Given the description of an element on the screen output the (x, y) to click on. 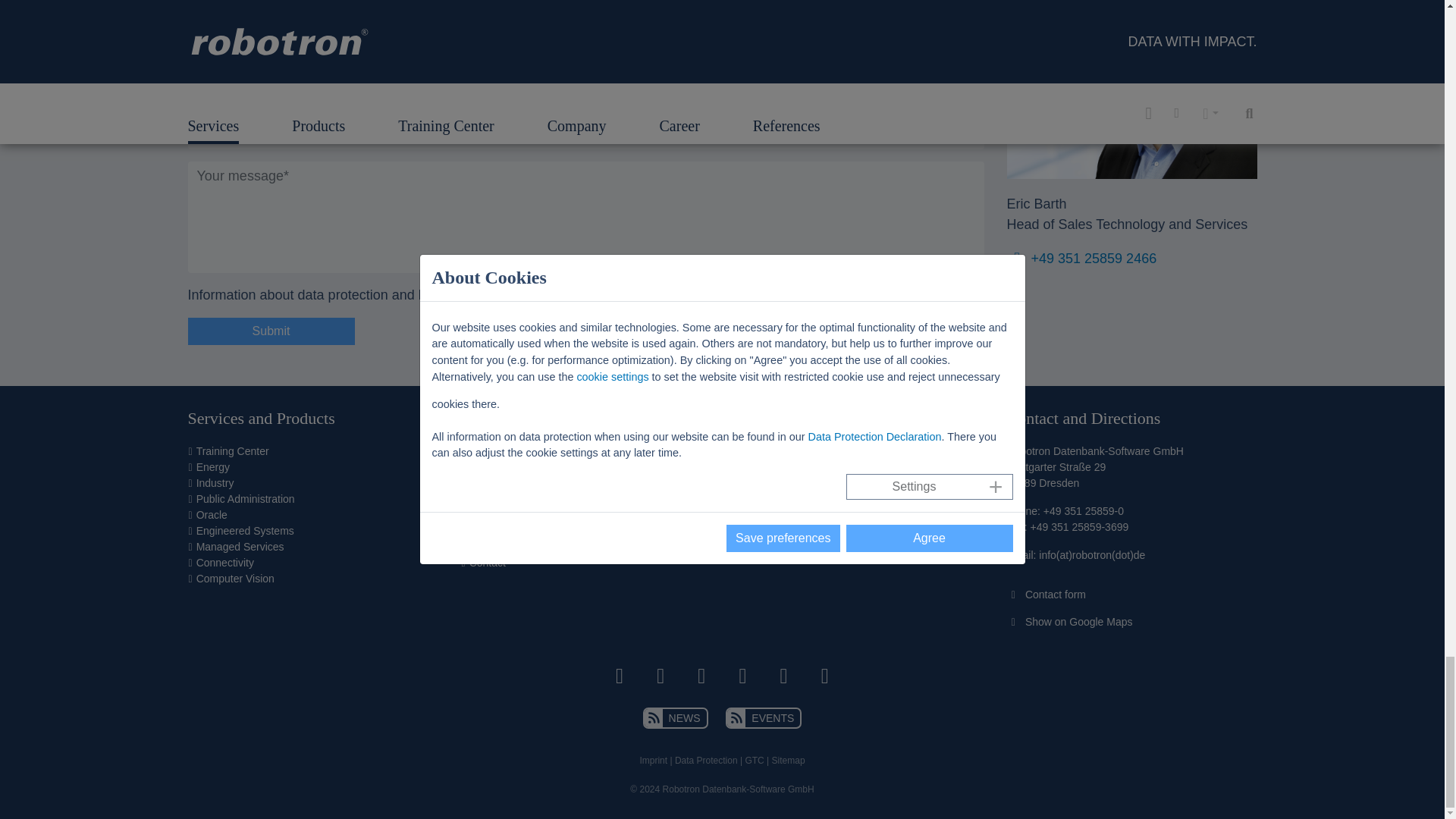
Connectivity (224, 562)
Industry (215, 482)
Managed Services (239, 546)
Engineered Systems (245, 530)
Computer Vision (235, 578)
Energy (213, 467)
Oracle (211, 514)
Public Administration (245, 499)
News (482, 451)
Events (485, 467)
Submit (271, 330)
Career (485, 482)
Training Center (232, 451)
Working at Robotron (517, 499)
